Given the description of an element on the screen output the (x, y) to click on. 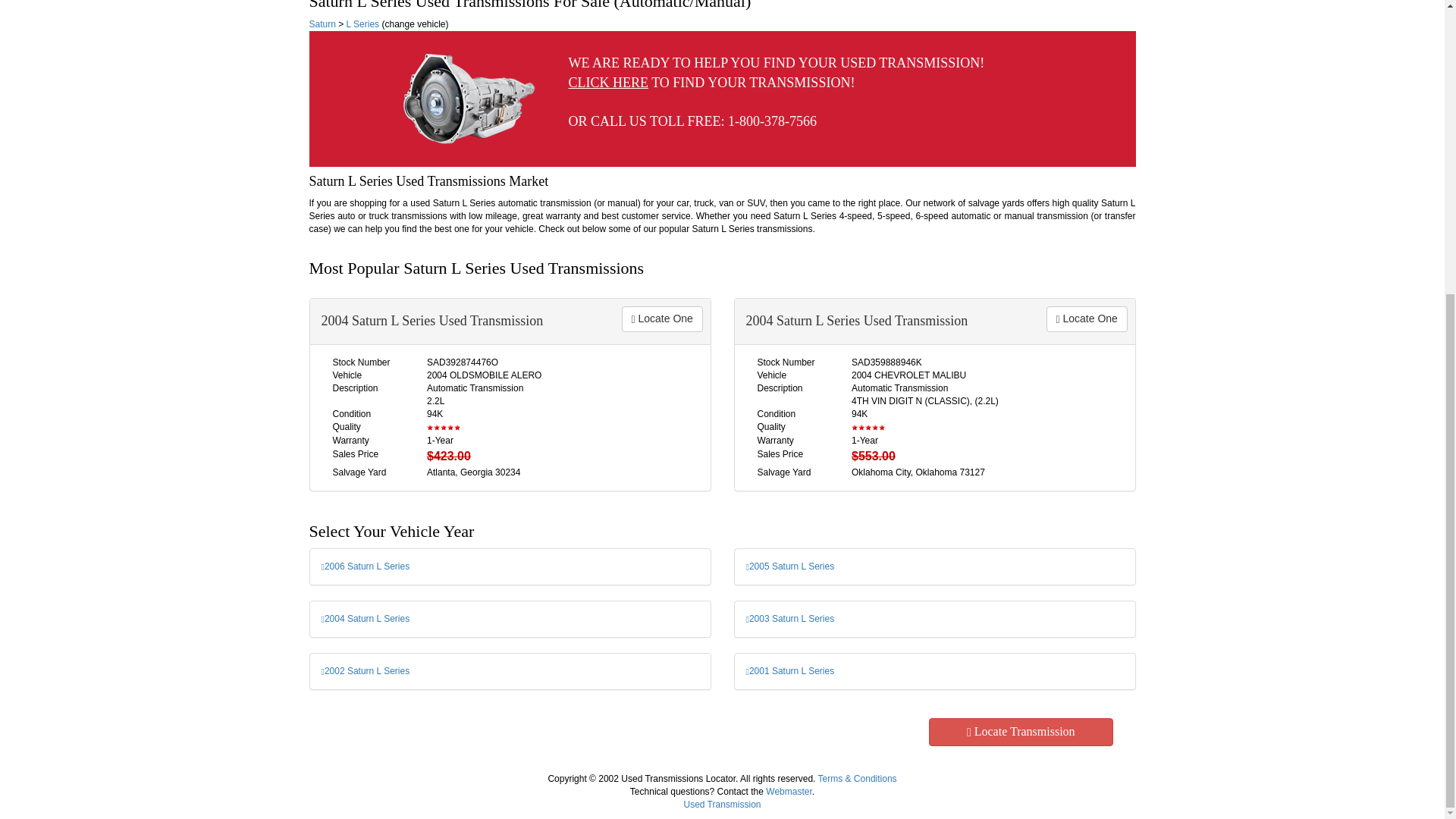
Saturn (322, 23)
L Series (363, 23)
2005 Saturn L Series (789, 566)
2004 Saturn L Series (365, 618)
 Locate One (662, 319)
Webmaster (787, 791)
2002 Saturn L Series (365, 670)
 Locate One (1086, 319)
CLICK HERE (609, 82)
2003 Saturn L Series (789, 618)
